Given the description of an element on the screen output the (x, y) to click on. 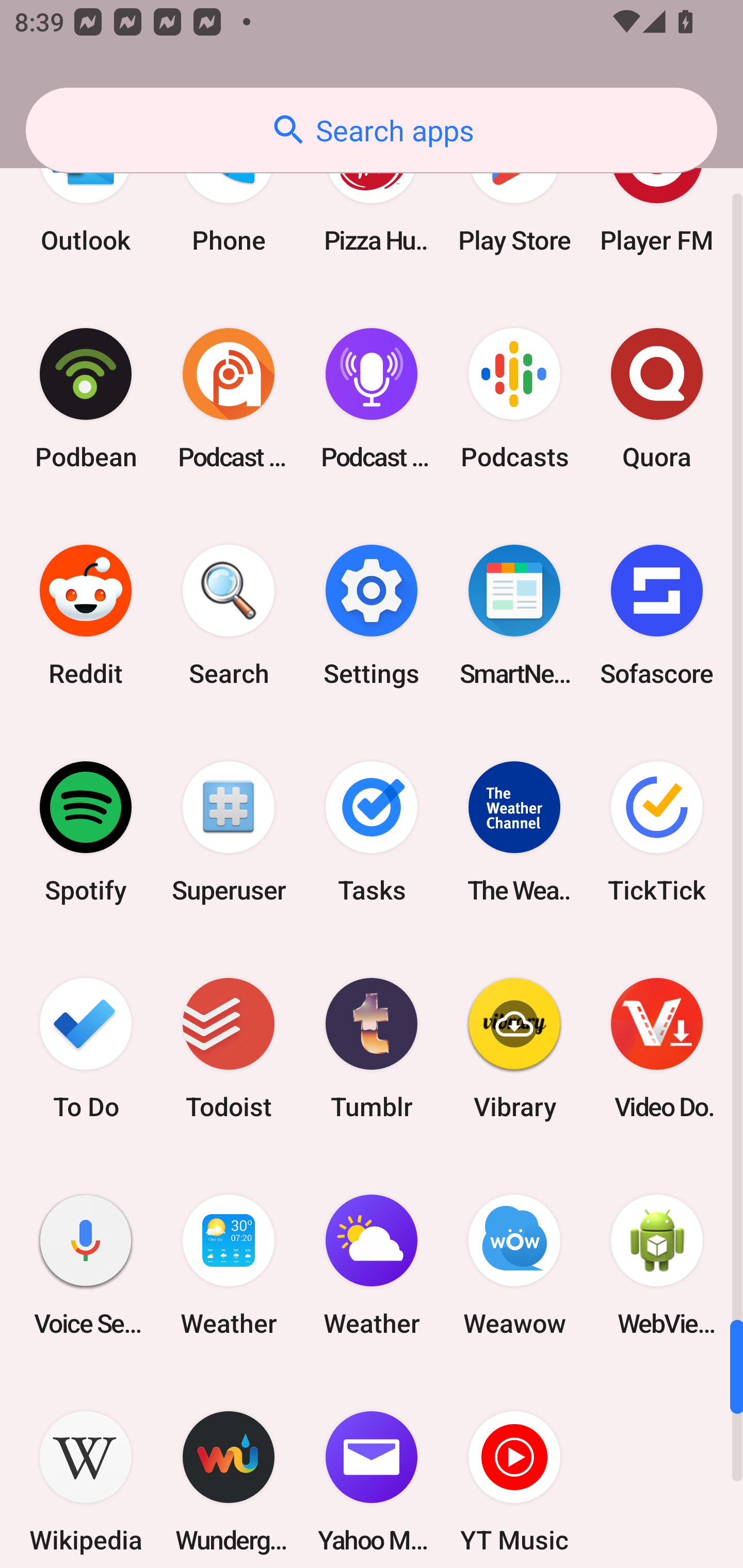
  Search apps (371, 130)
Podbean (85, 398)
Podcast Addict (228, 398)
Podcast Player (371, 398)
Podcasts (514, 398)
Quora (656, 398)
Reddit (85, 615)
Search (228, 615)
Settings (371, 615)
SmartNews (514, 615)
Sofascore (656, 615)
Spotify (85, 832)
Superuser (228, 832)
Tasks (371, 832)
The Weather Channel (514, 832)
TickTick (656, 832)
To Do (85, 1048)
Todoist (228, 1048)
Tumblr (371, 1048)
Vibrary (514, 1048)
Video Downloader & Ace Player (656, 1048)
Voice Search (85, 1265)
Weather (228, 1265)
Weather (371, 1265)
Weawow (514, 1265)
WebView Browser Tester (656, 1265)
Wikipedia (85, 1470)
Wunderground (228, 1470)
Yahoo Mail (371, 1470)
YT Music (514, 1470)
